Given the description of an element on the screen output the (x, y) to click on. 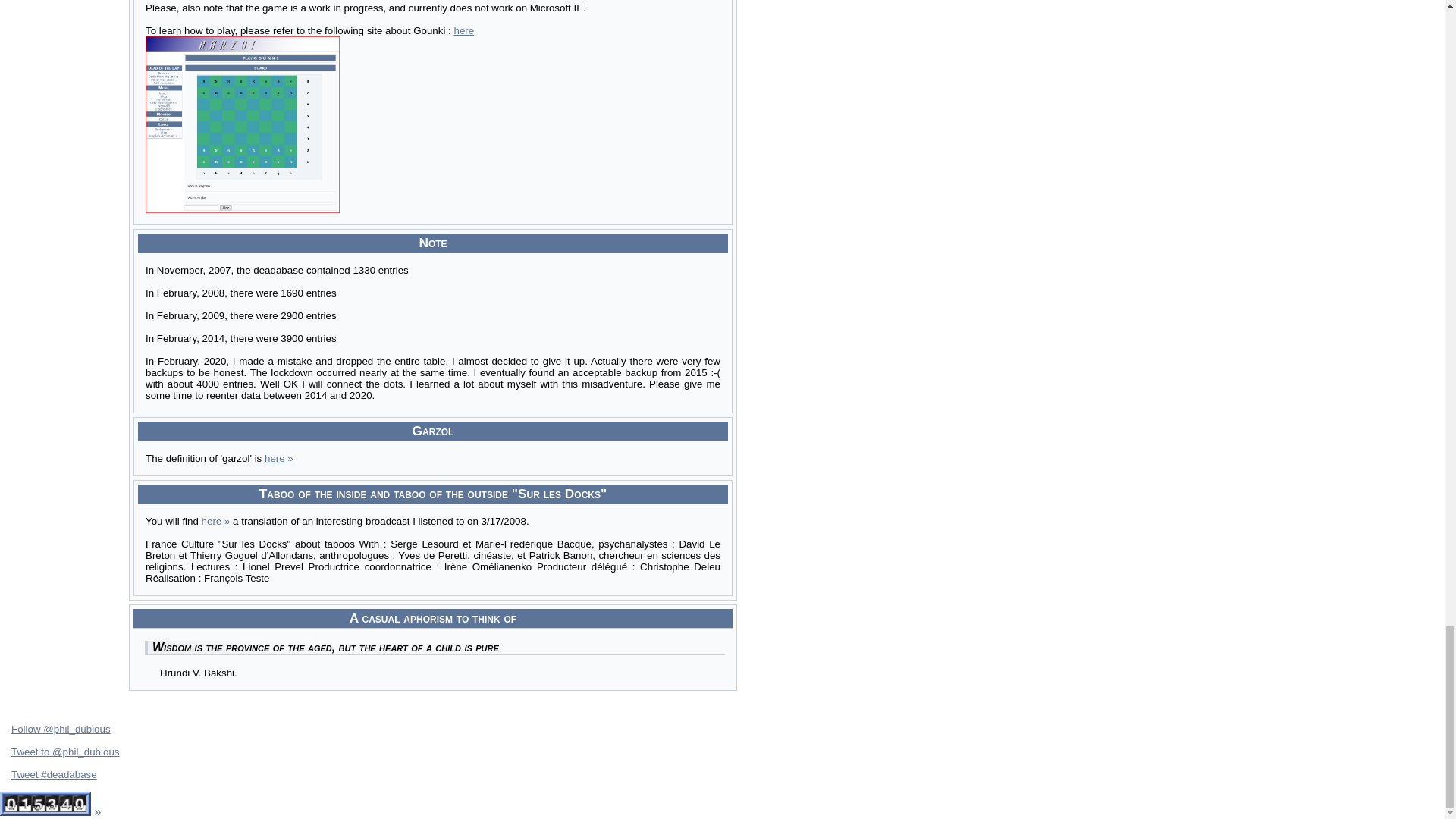
here (279, 458)
here (463, 30)
France culture broadcasting (216, 521)
define garzol (279, 458)
here (216, 521)
